Given the description of an element on the screen output the (x, y) to click on. 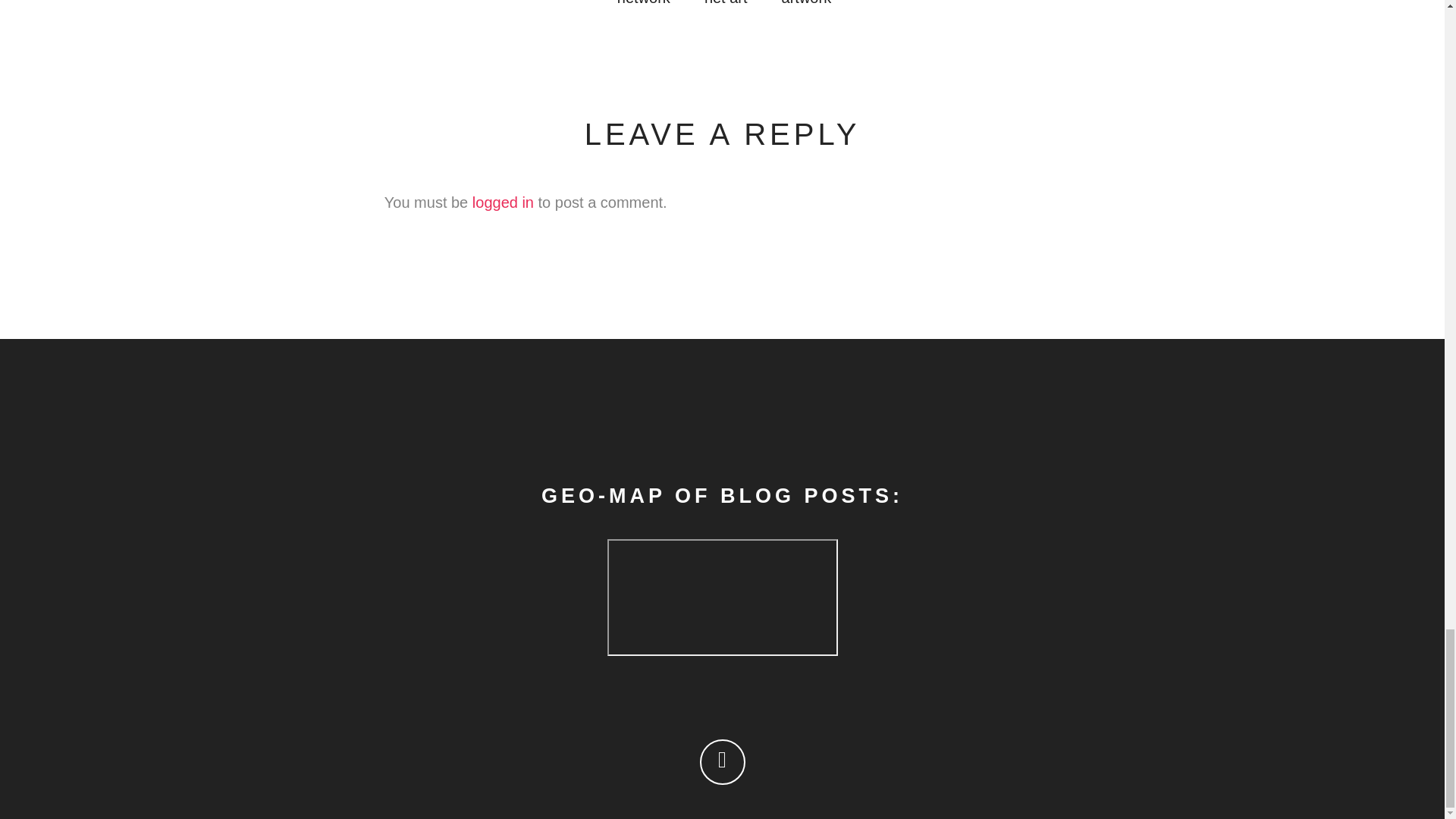
artwork (806, 6)
network (643, 6)
net art (726, 6)
logged in (502, 202)
